Given the description of an element on the screen output the (x, y) to click on. 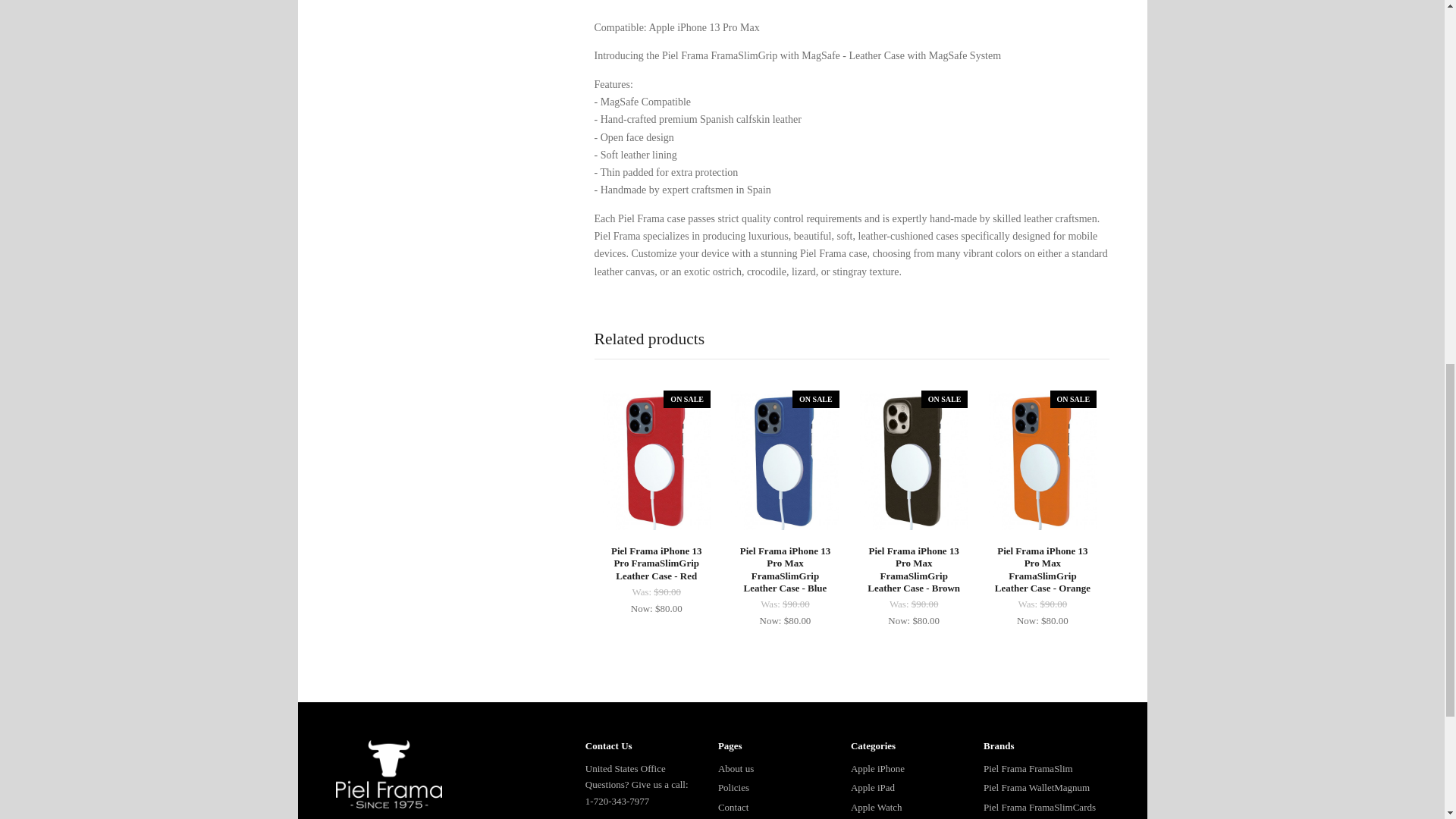
Piel Frama iPhone 13 Pro FramaSlimGrip Leather Case - Red (656, 580)
